Given the description of an element on the screen output the (x, y) to click on. 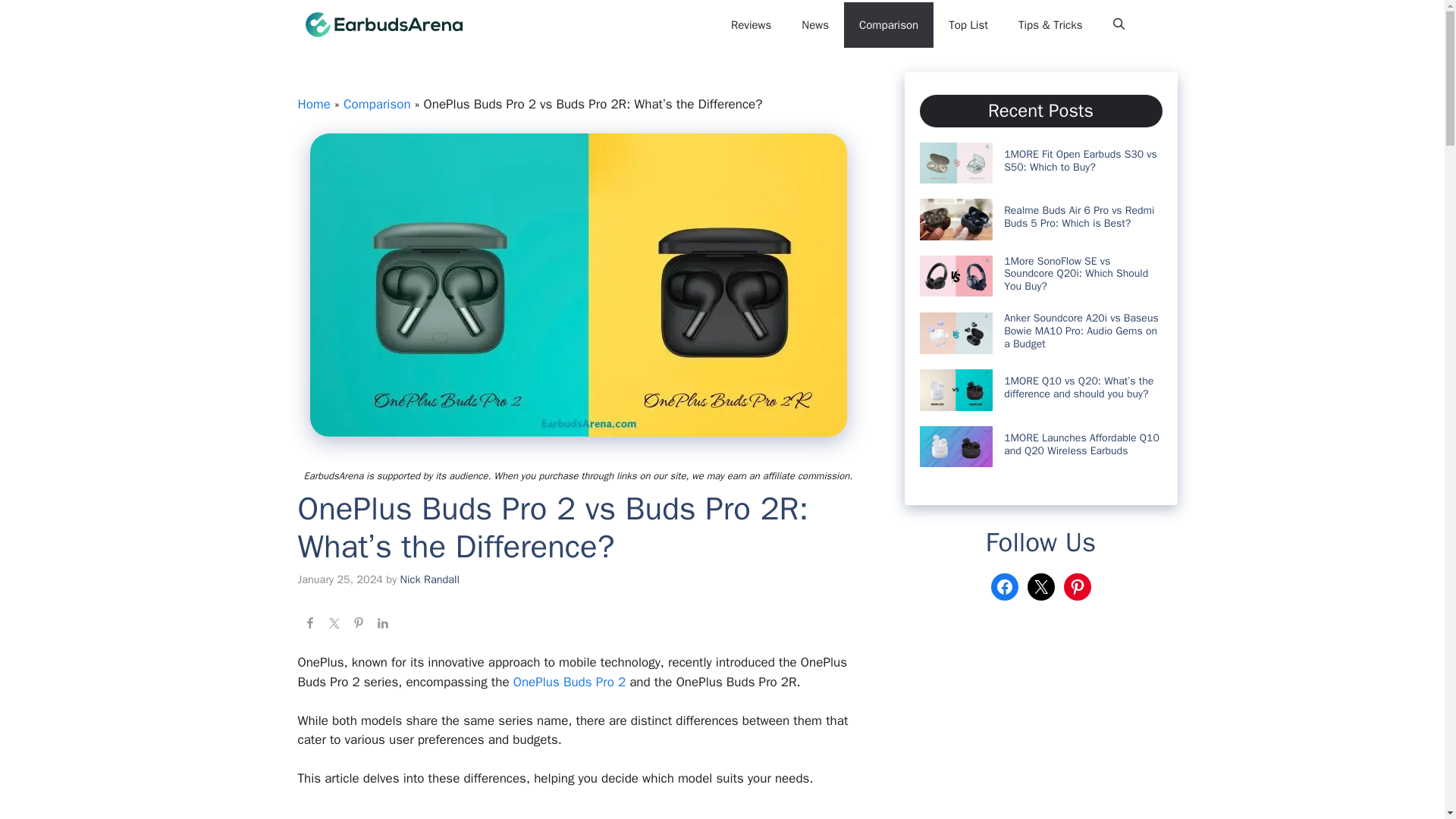
News (815, 23)
Home (313, 104)
Top List (968, 23)
OnePlus Buds Pro 2 (569, 682)
Comparison (376, 104)
Earbuds Arena (382, 24)
Share on Facebook (309, 625)
Share on Pinterest (357, 625)
Share on LinkedIn (381, 625)
Nick Randall (430, 578)
Reviews (751, 23)
View all posts by Nick Randall (430, 578)
Earbuds Arena (530, 24)
Share on Twitter (333, 625)
Comparison (888, 23)
